Given the description of an element on the screen output the (x, y) to click on. 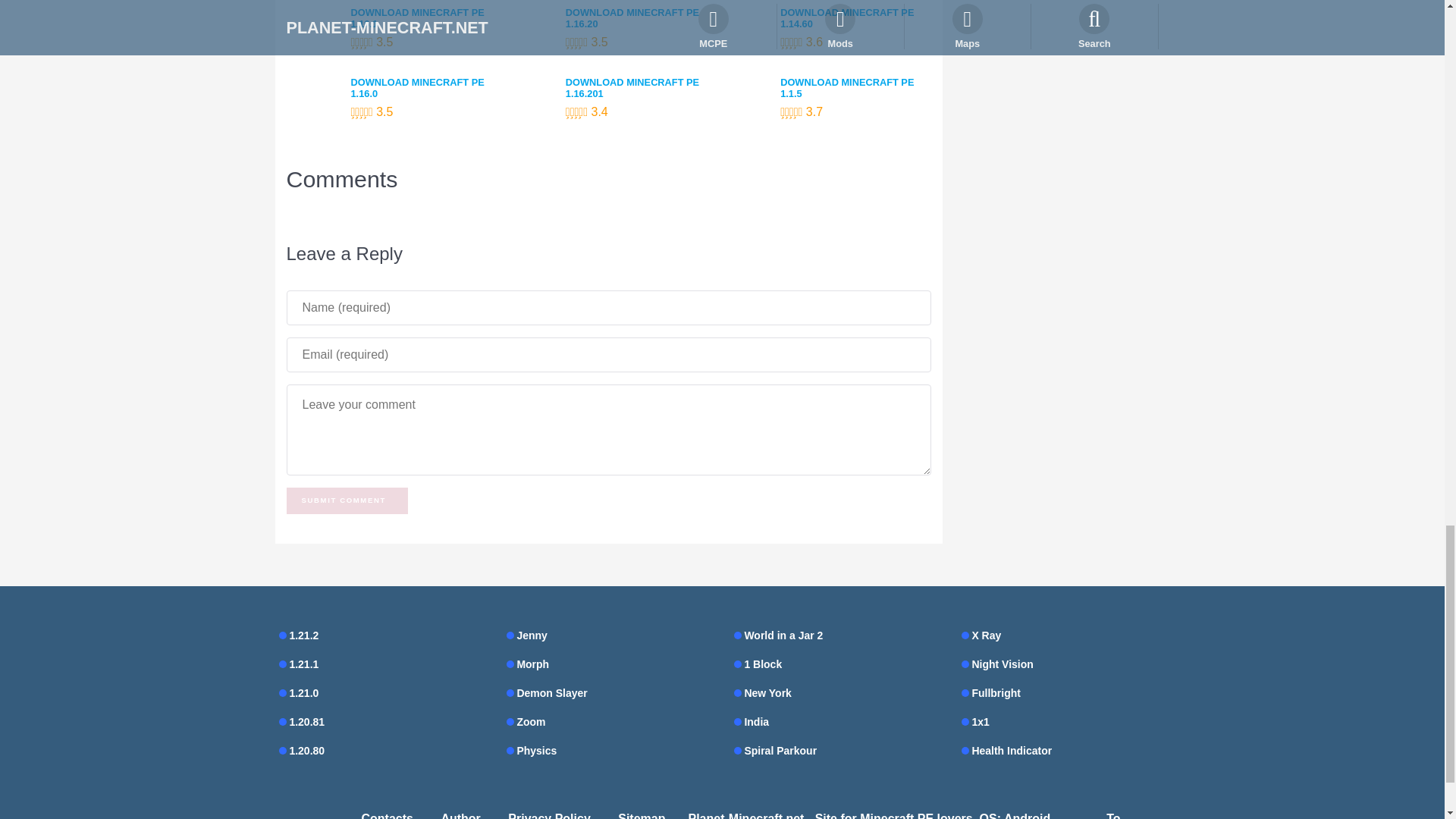
1.21.0 (381, 692)
1.21.2 (381, 635)
1.20.81 (381, 721)
DOWNLOAD MINECRAFT PE 1.16.1 (425, 17)
DOWNLOAD MINECRAFT PE 1.16.20 (641, 17)
1.21.1 (381, 663)
Submit Comment (346, 500)
1.20.80 (381, 750)
